Given the description of an element on the screen output the (x, y) to click on. 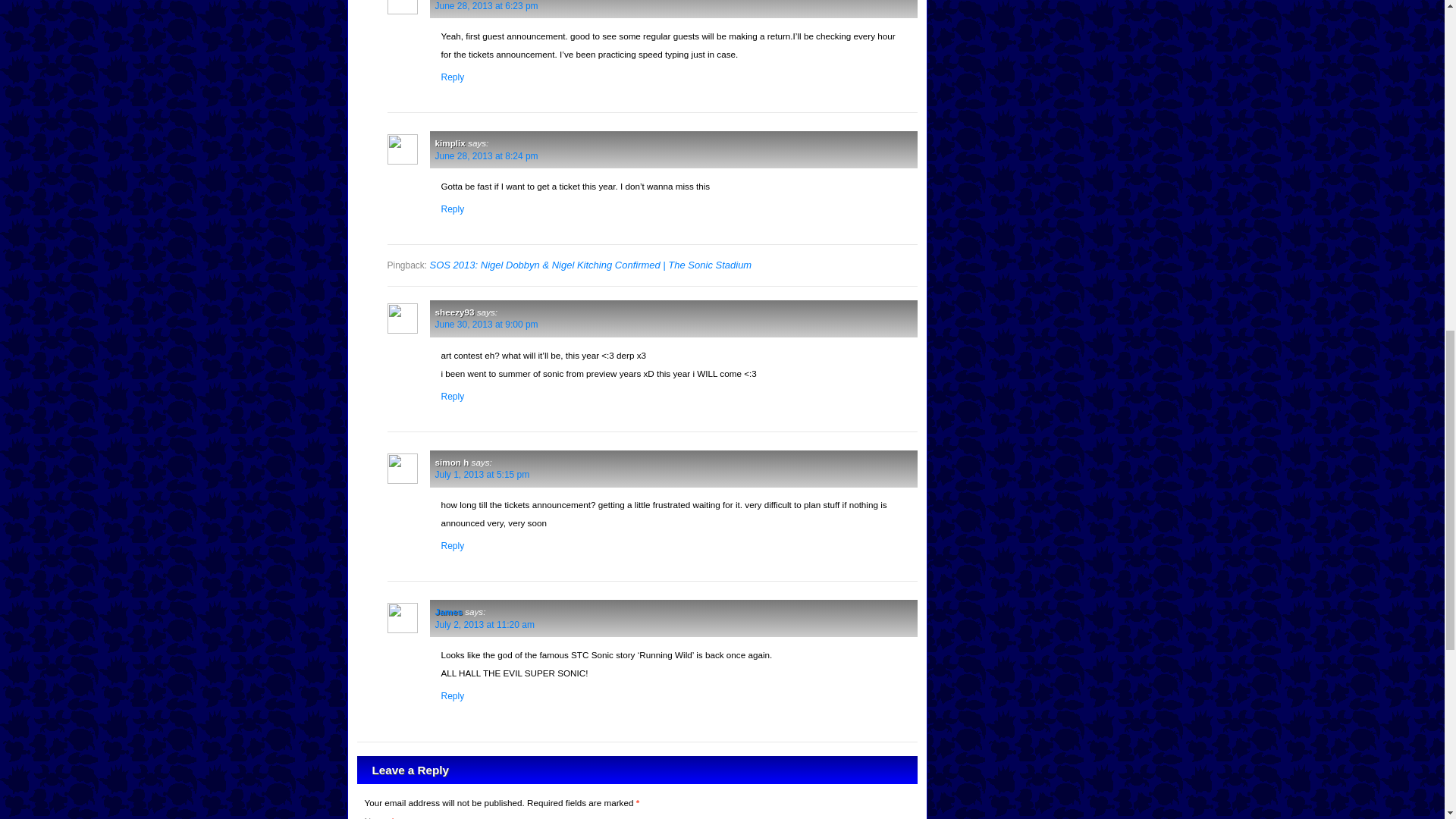
Reply (452, 545)
June 28, 2013 at 8:24 pm (486, 155)
Reply (452, 396)
James (449, 611)
Reply (452, 208)
July 1, 2013 at 5:15 pm (482, 474)
Reply (452, 77)
July 2, 2013 at 11:20 am (484, 624)
June 30, 2013 at 9:00 pm (486, 324)
Reply (452, 696)
June 28, 2013 at 6:23 pm (486, 5)
